Given the description of an element on the screen output the (x, y) to click on. 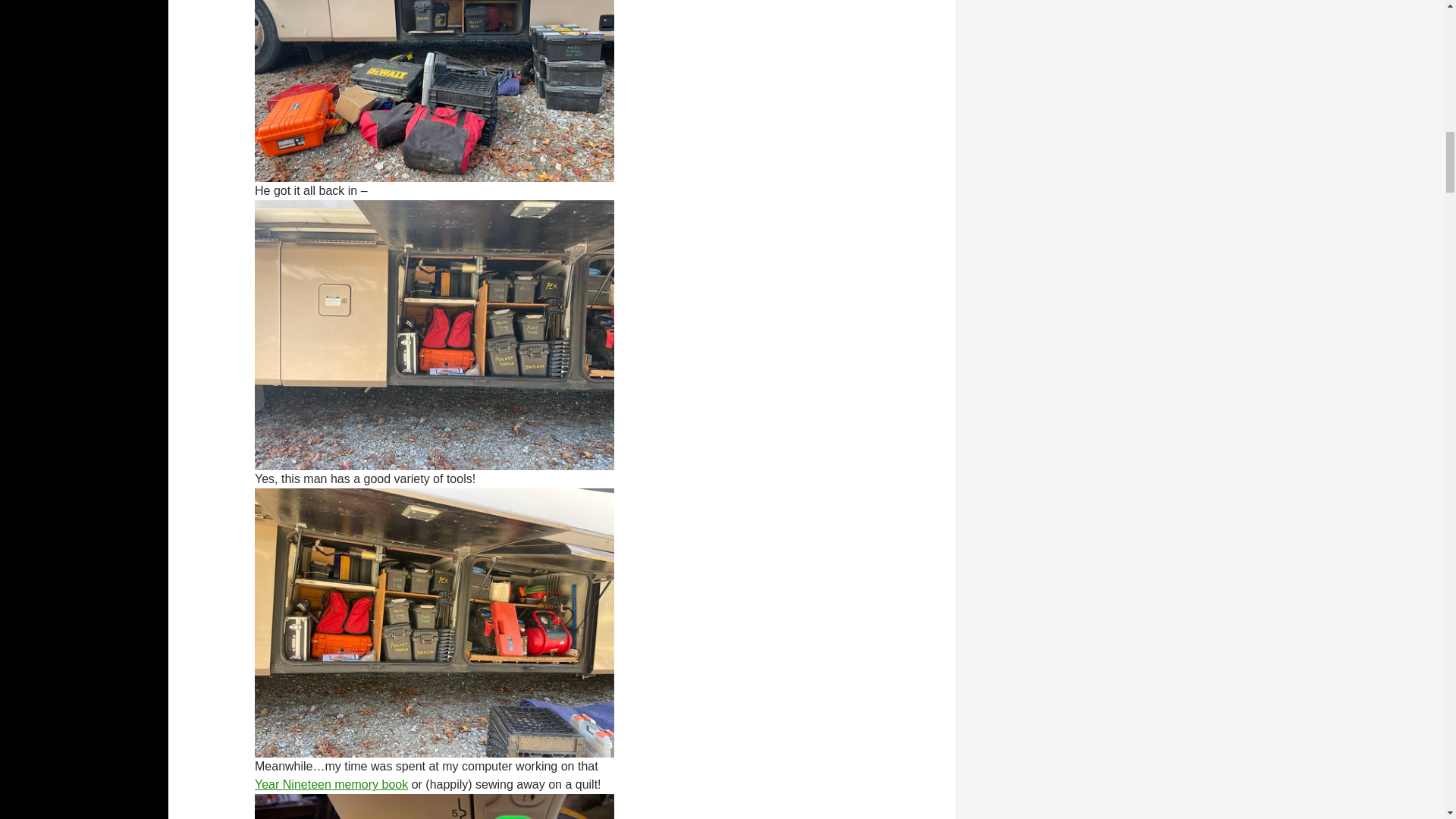
Untitled (434, 621)
Untitled (434, 333)
Year Nineteen memory book (330, 784)
Untitled (434, 46)
